Given the description of an element on the screen output the (x, y) to click on. 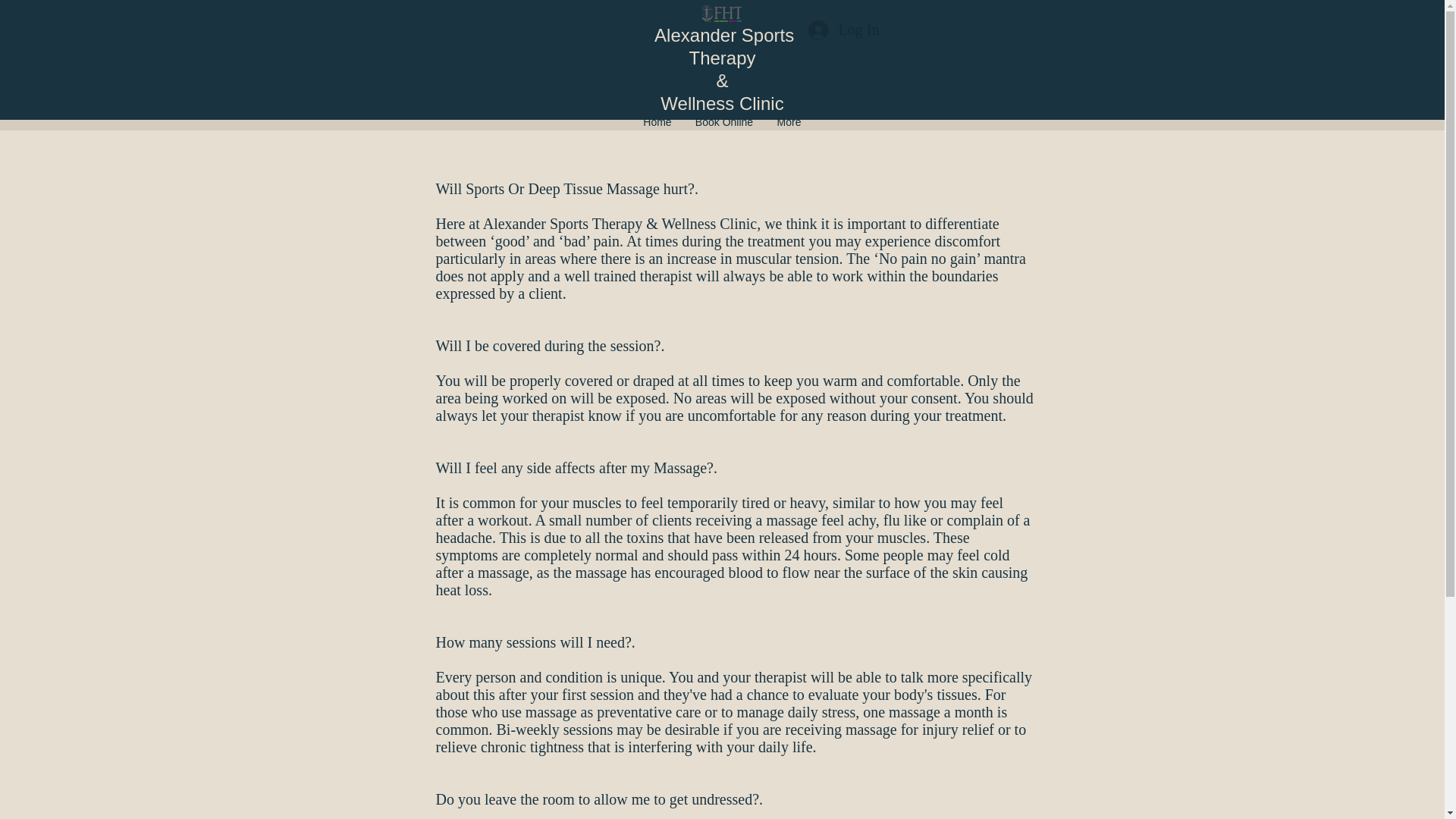
Home (656, 118)
Book Online (723, 118)
